Given the description of an element on the screen output the (x, y) to click on. 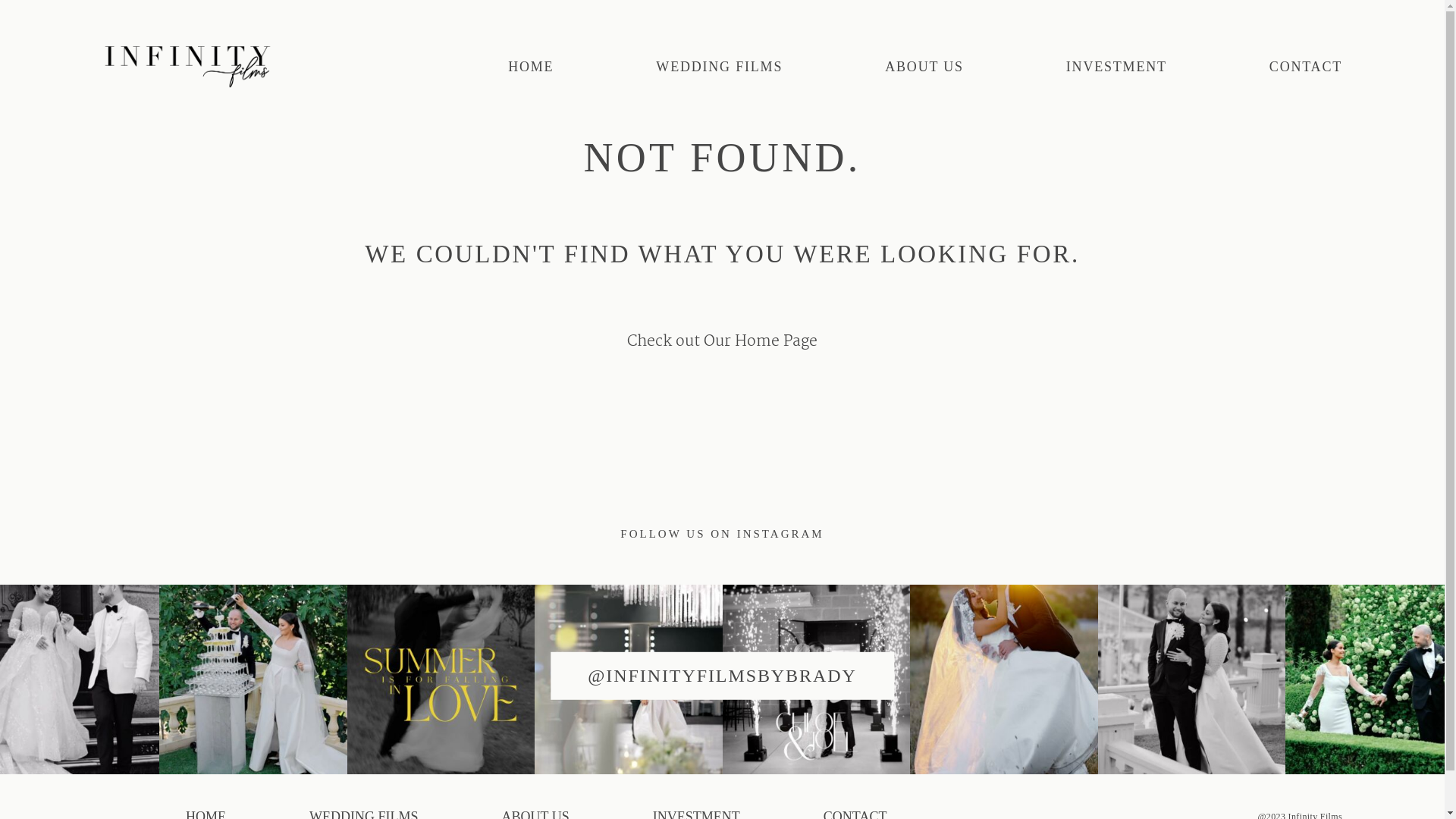
INVESTMENT Element type: text (1116, 66)
HOME Element type: text (530, 66)
ABOUT US Element type: text (923, 66)
@INFINITYFILMSBYBRADY Element type: text (722, 675)
WEDDING FILMS Element type: text (718, 66)
Check out Our Home Page Element type: text (722, 341)
CONTACT Element type: text (1305, 66)
